Given the description of an element on the screen output the (x, y) to click on. 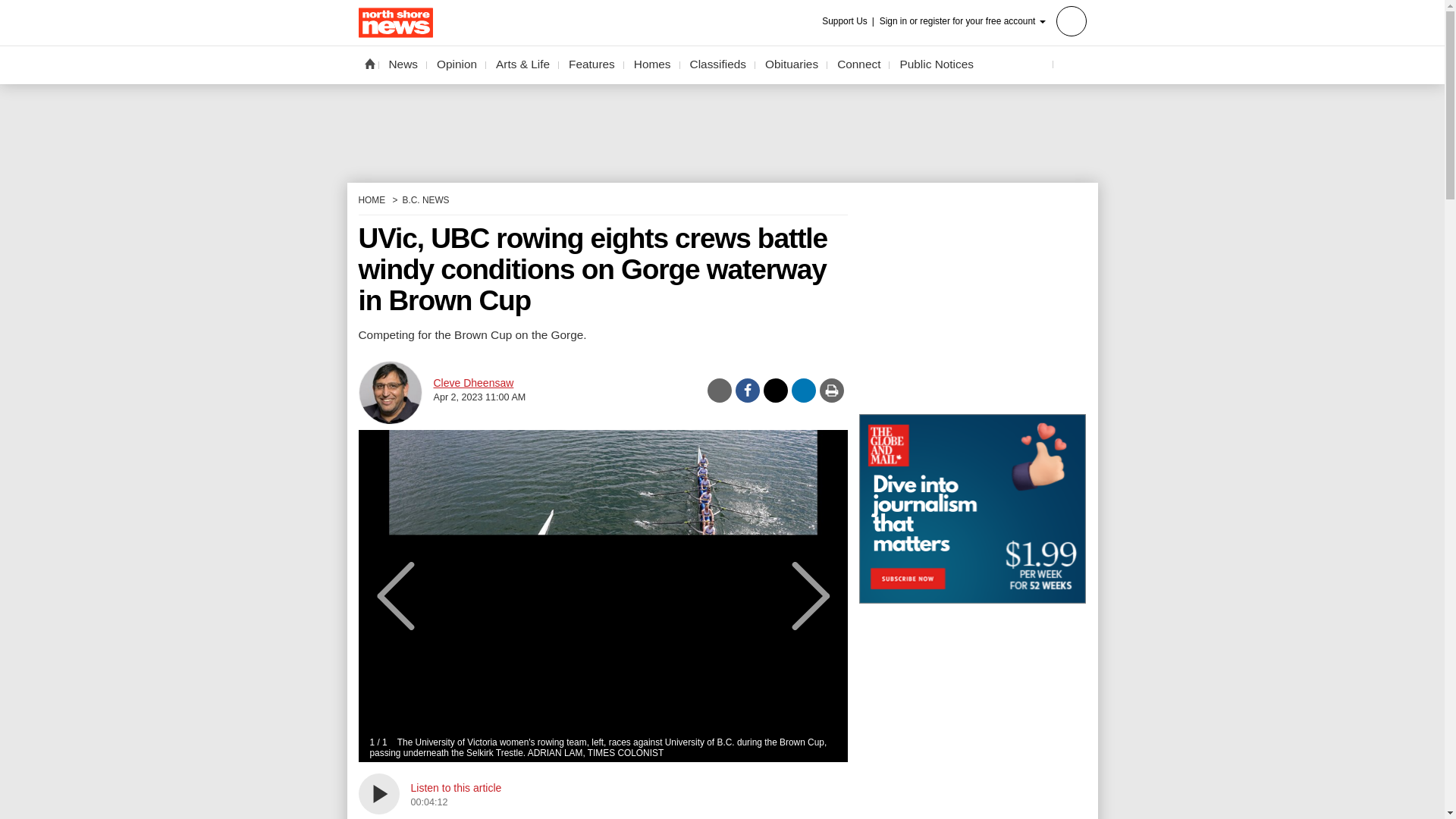
Sign in or register for your free account (982, 20)
Opinion (456, 64)
Home (368, 63)
Support Us (849, 21)
News (403, 64)
